Given the description of an element on the screen output the (x, y) to click on. 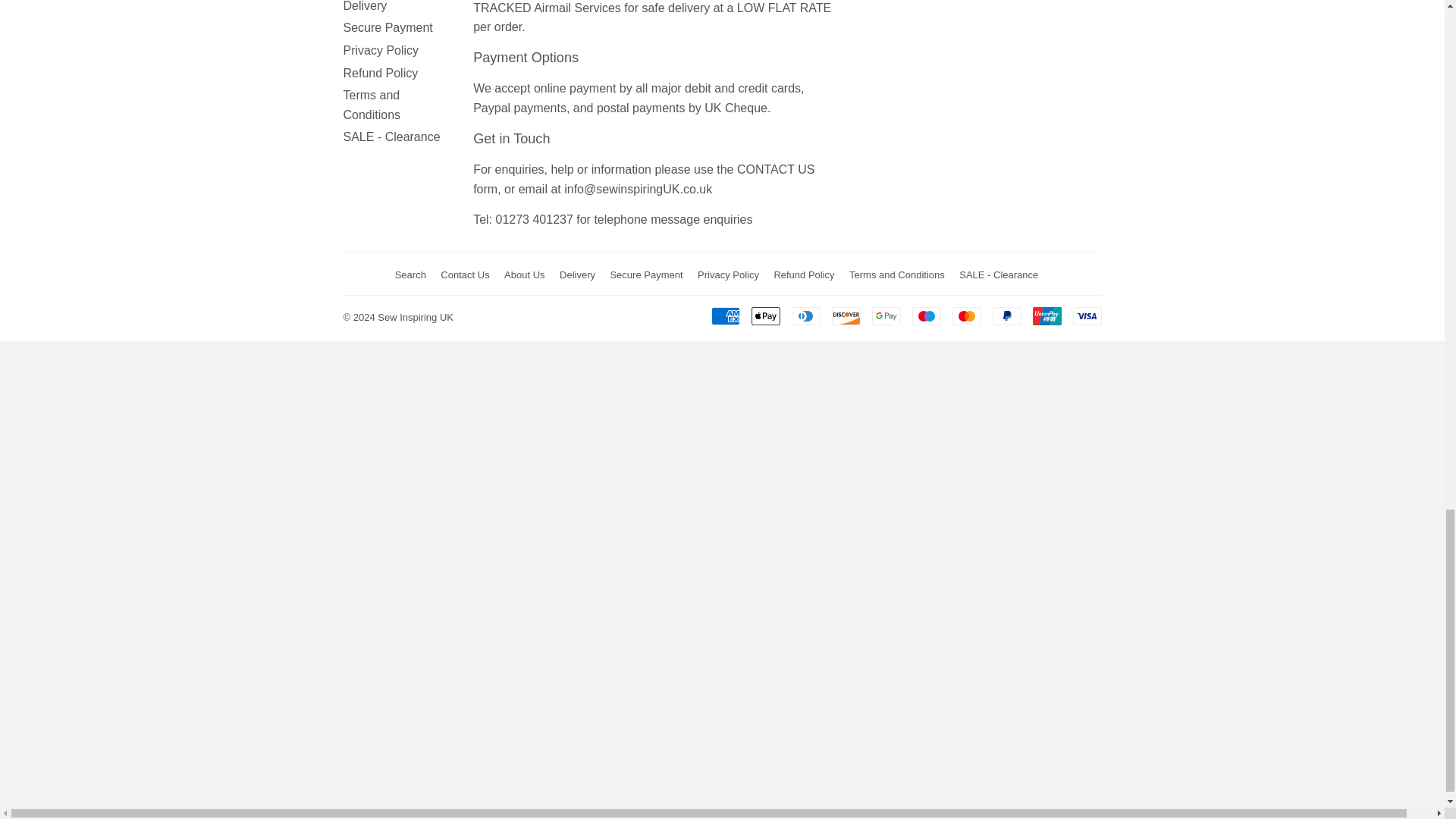
Mastercard (966, 316)
American Express (725, 316)
Maestro (925, 316)
PayPal (1005, 316)
Discover (845, 316)
Google Pay (886, 316)
Diners Club (806, 316)
Visa (1085, 316)
Union Pay (1046, 316)
Apple Pay (764, 316)
